Given the description of an element on the screen output the (x, y) to click on. 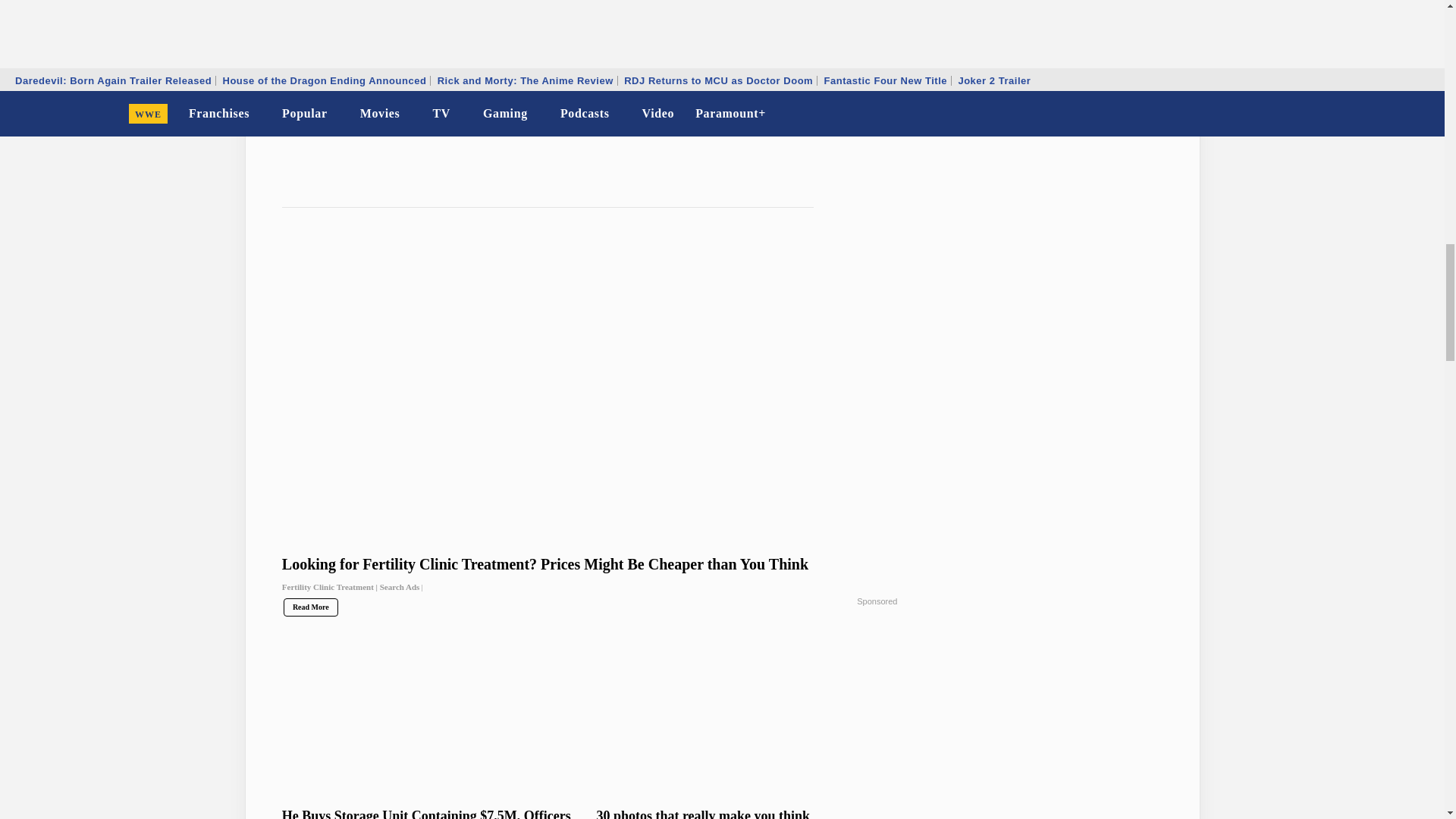
30 photos that really make you think (746, 812)
Video Player (590, 72)
